Given the description of an element on the screen output the (x, y) to click on. 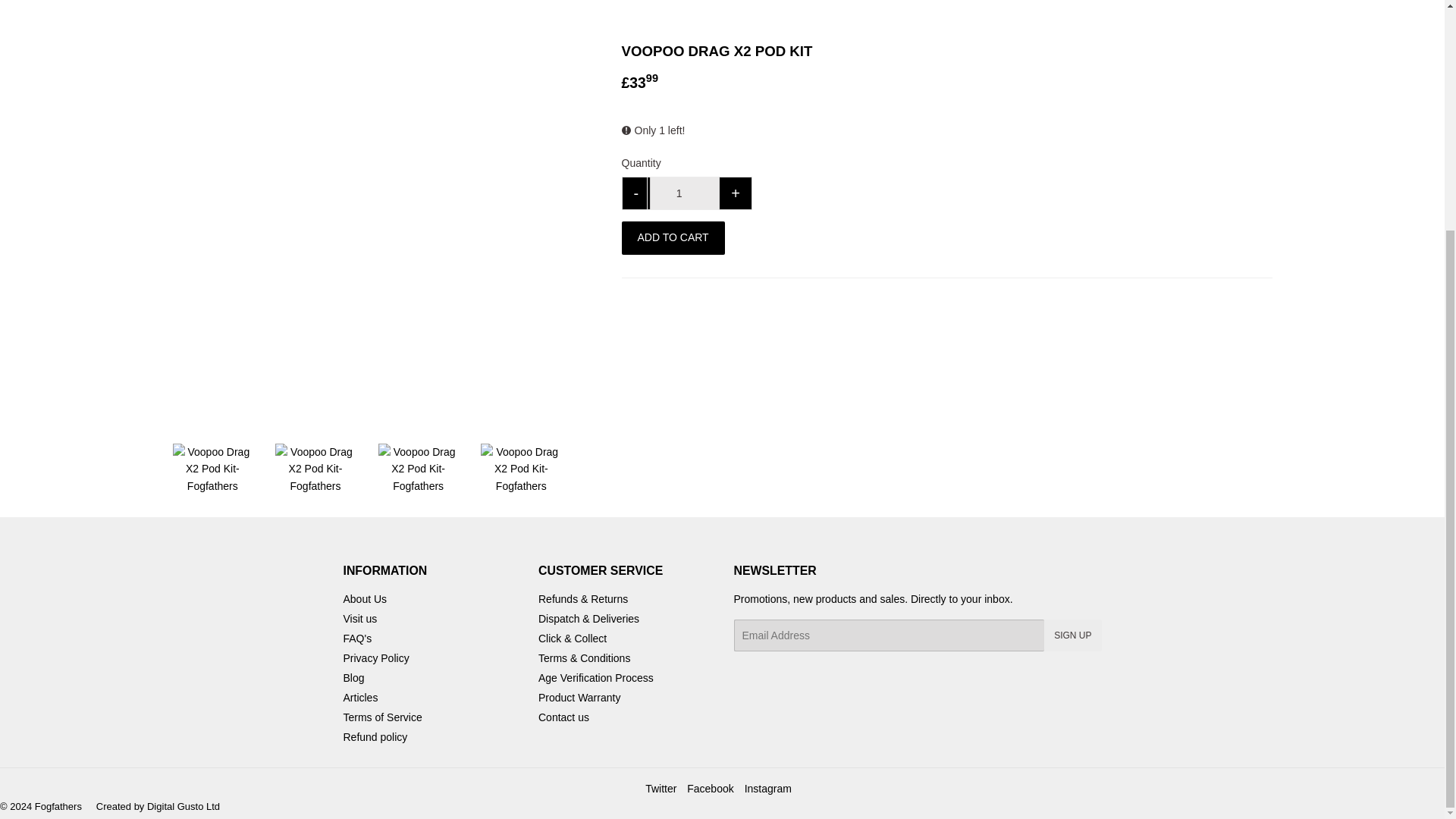
Fogfathers on Instagram (768, 788)
Fogfathers on Twitter (661, 788)
1 (684, 192)
Fogfathers on Facebook (710, 788)
